Given the description of an element on the screen output the (x, y) to click on. 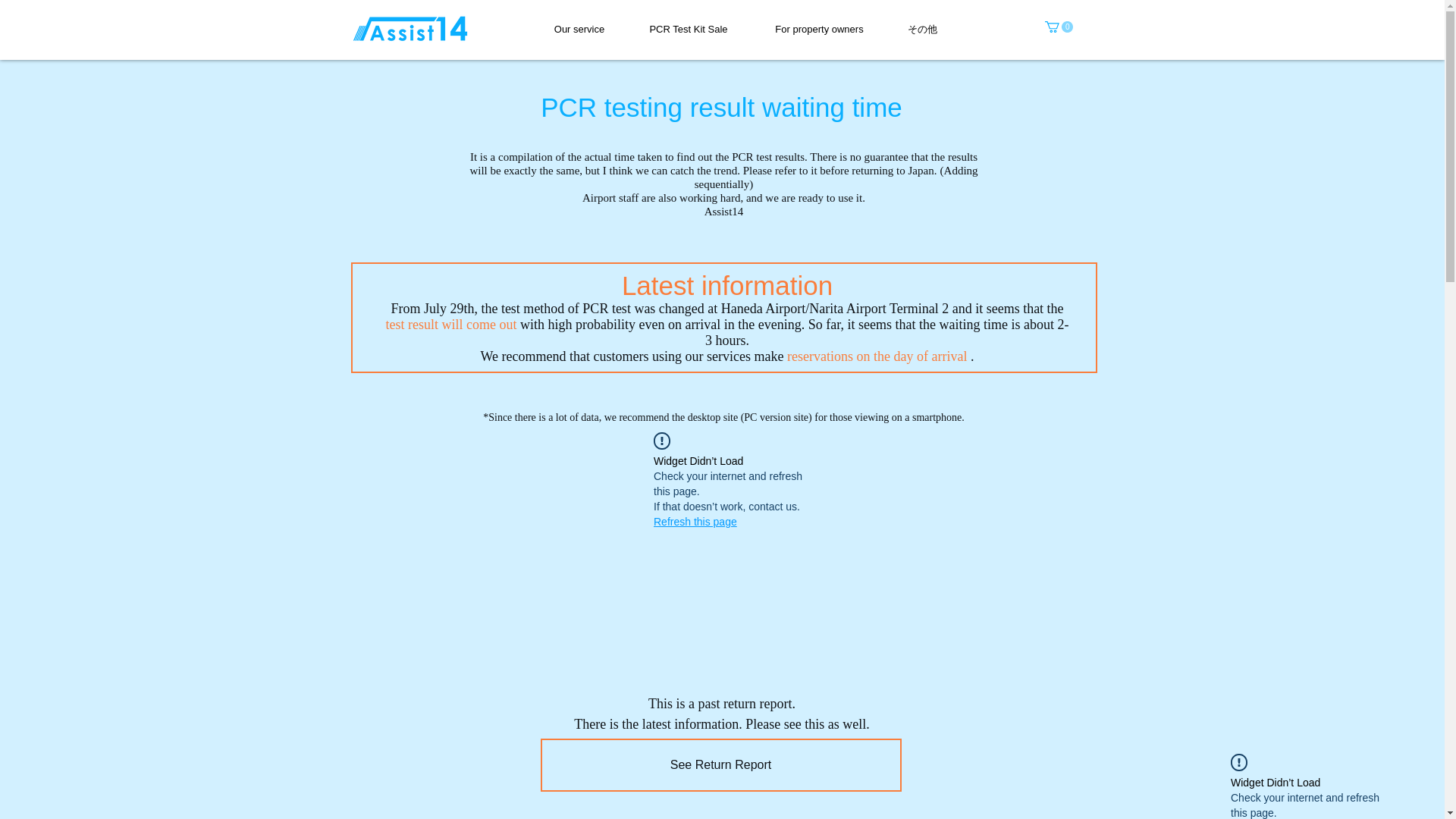
0 (1059, 26)
Refresh this page (694, 521)
0 (1059, 26)
See Return Report (720, 764)
For property owners (819, 29)
